Given the description of an element on the screen output the (x, y) to click on. 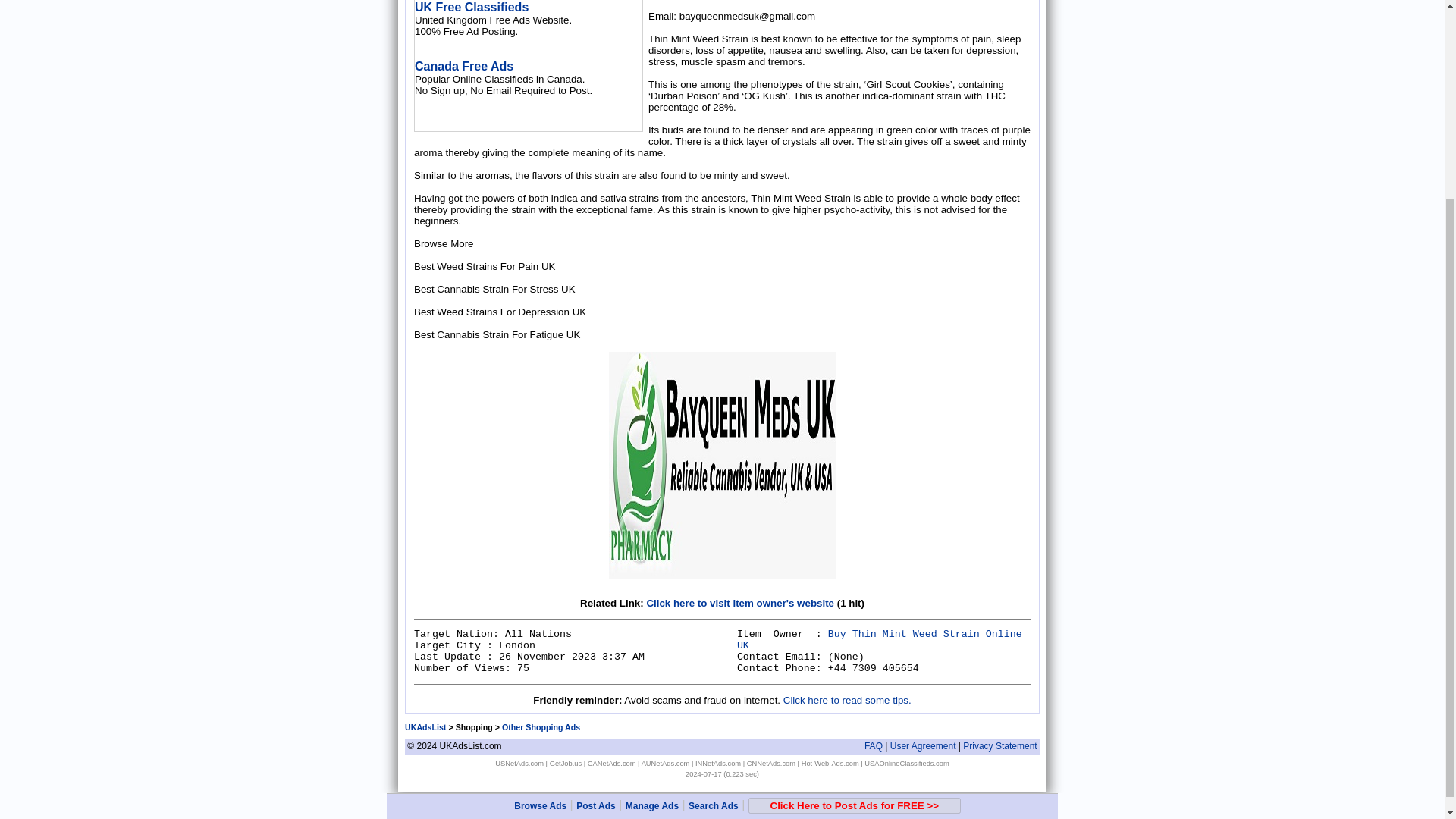
Manage Ads (652, 547)
Canada Free Ads (463, 65)
Browse Ads (539, 547)
Other Shopping Ads (540, 727)
INNetAds.com (718, 763)
GetJob.us (566, 763)
FAQ (873, 746)
USAOnlineClassifieds.com (906, 763)
Browse all items posted by this owner (879, 639)
User Agreement (922, 746)
Go Back to UKAdsList.com Home Page (424, 727)
Privacy Statement (999, 746)
Hot-Web-Ads.com (830, 763)
Click here to read some tips. (847, 699)
CANetAds.com (612, 763)
